Given the description of an element on the screen output the (x, y) to click on. 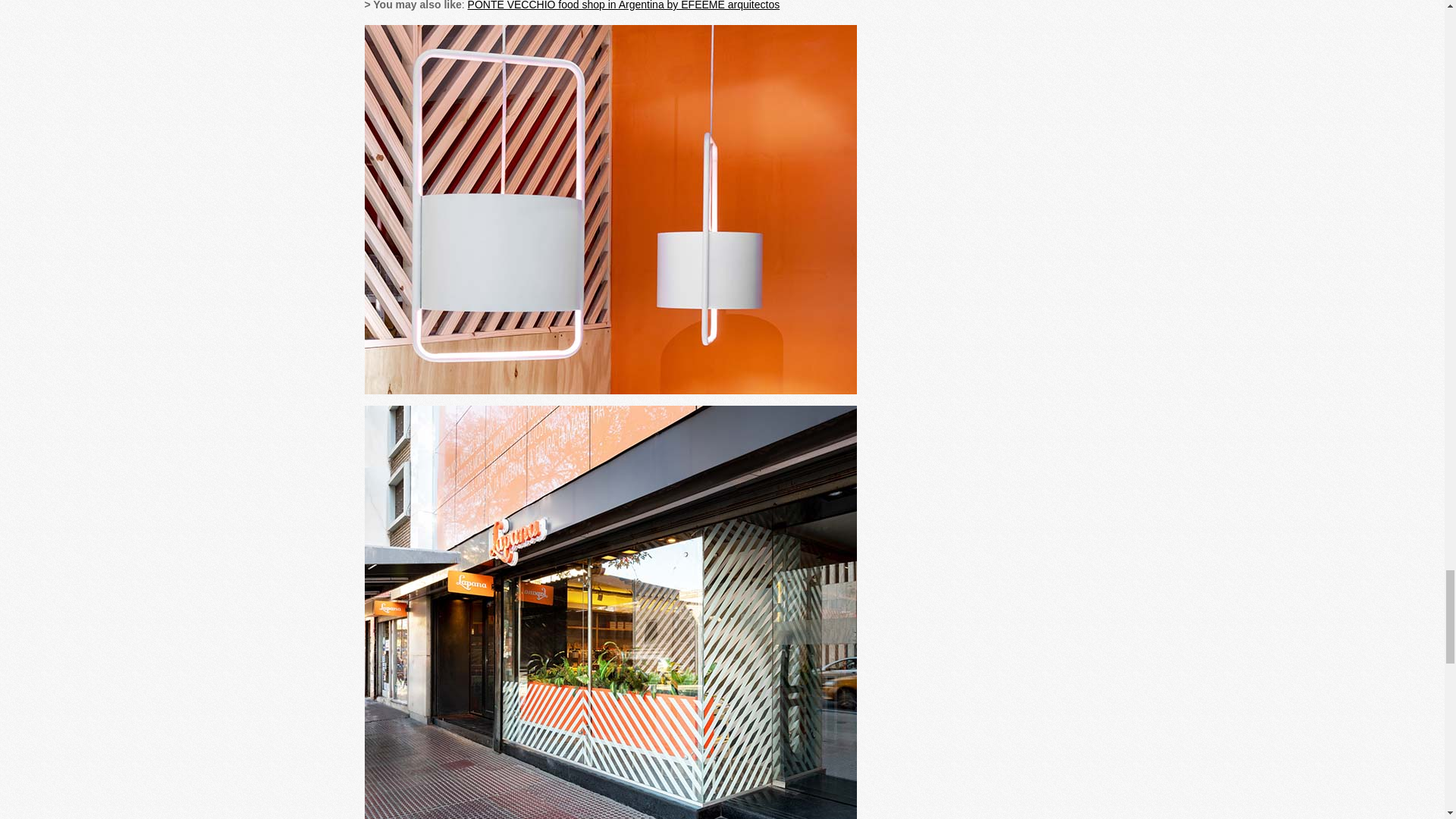
PONTE VECCHIO food shop in Argentina by EFEEME arquitectos (623, 5)
